Given the description of an element on the screen output the (x, y) to click on. 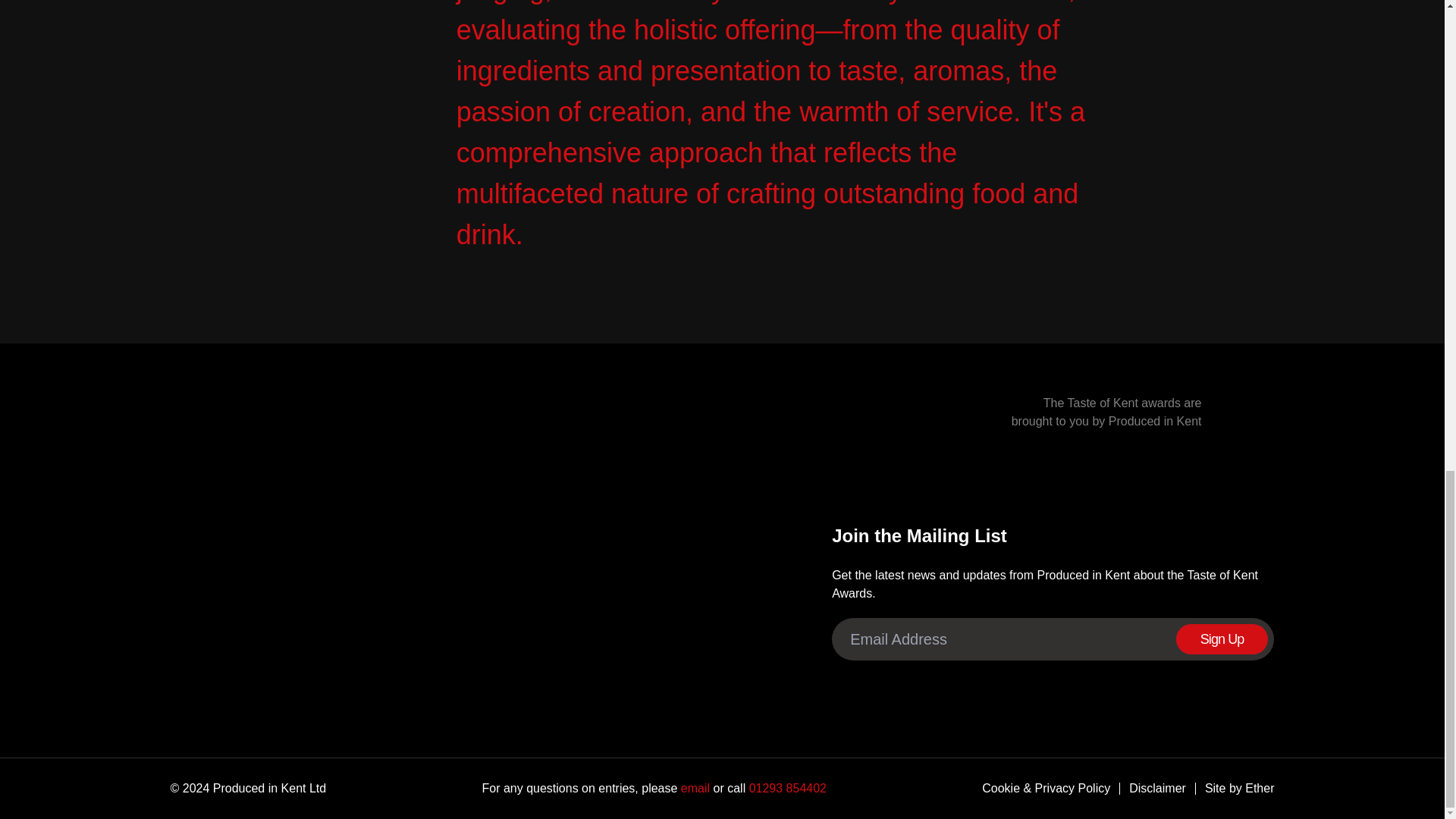
Sign Up (1222, 639)
email (693, 788)
Disclaimer (1152, 788)
Site by Ether (1235, 788)
01293 854402 (786, 788)
